Given the description of an element on the screen output the (x, y) to click on. 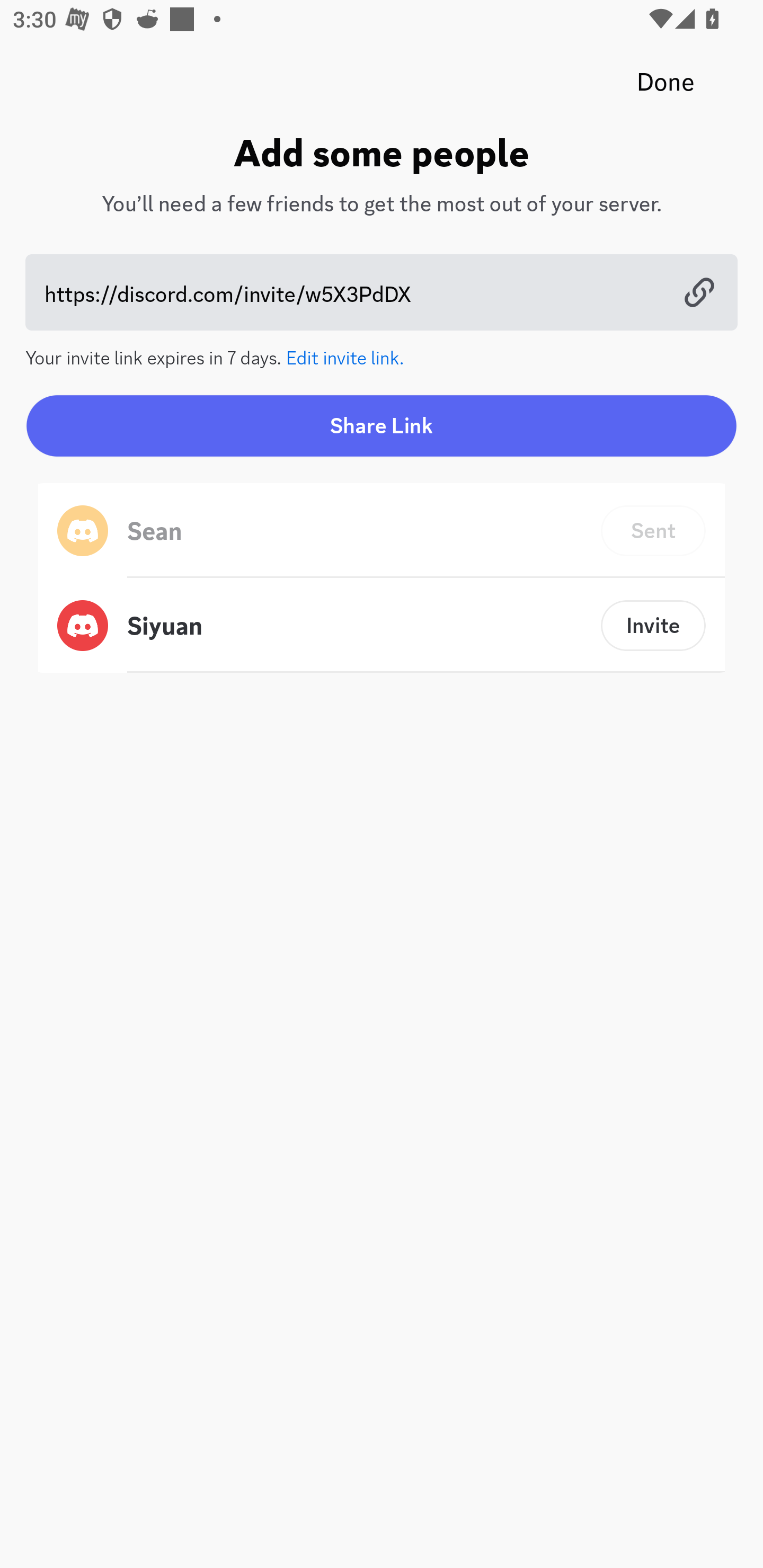
Done (665, 82)
Copy Link https://discord.com/invite/w5X3PdDX (381, 292)
Edit invite link. (345, 355)
Share Link (381, 425)
Sean, Sent Sean Sent Sent (381, 530)
Invite (653, 625)
